Given the description of an element on the screen output the (x, y) to click on. 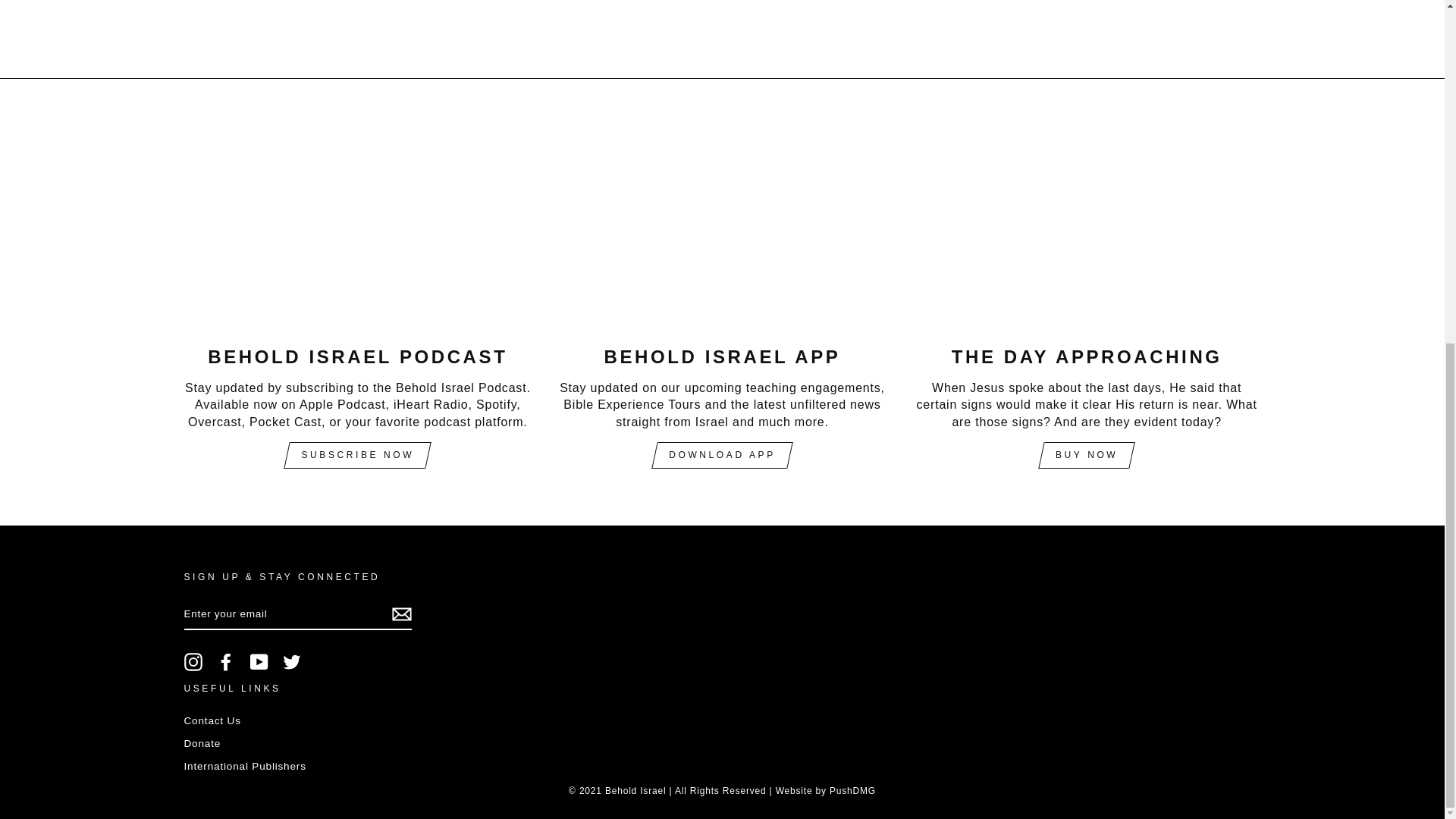
Behold Israel  on YouTube (258, 661)
Behold Israel  on Facebook (225, 661)
Behold Israel  on Twitter (291, 661)
Behold Israel  on Instagram (192, 661)
